Given the description of an element on the screen output the (x, y) to click on. 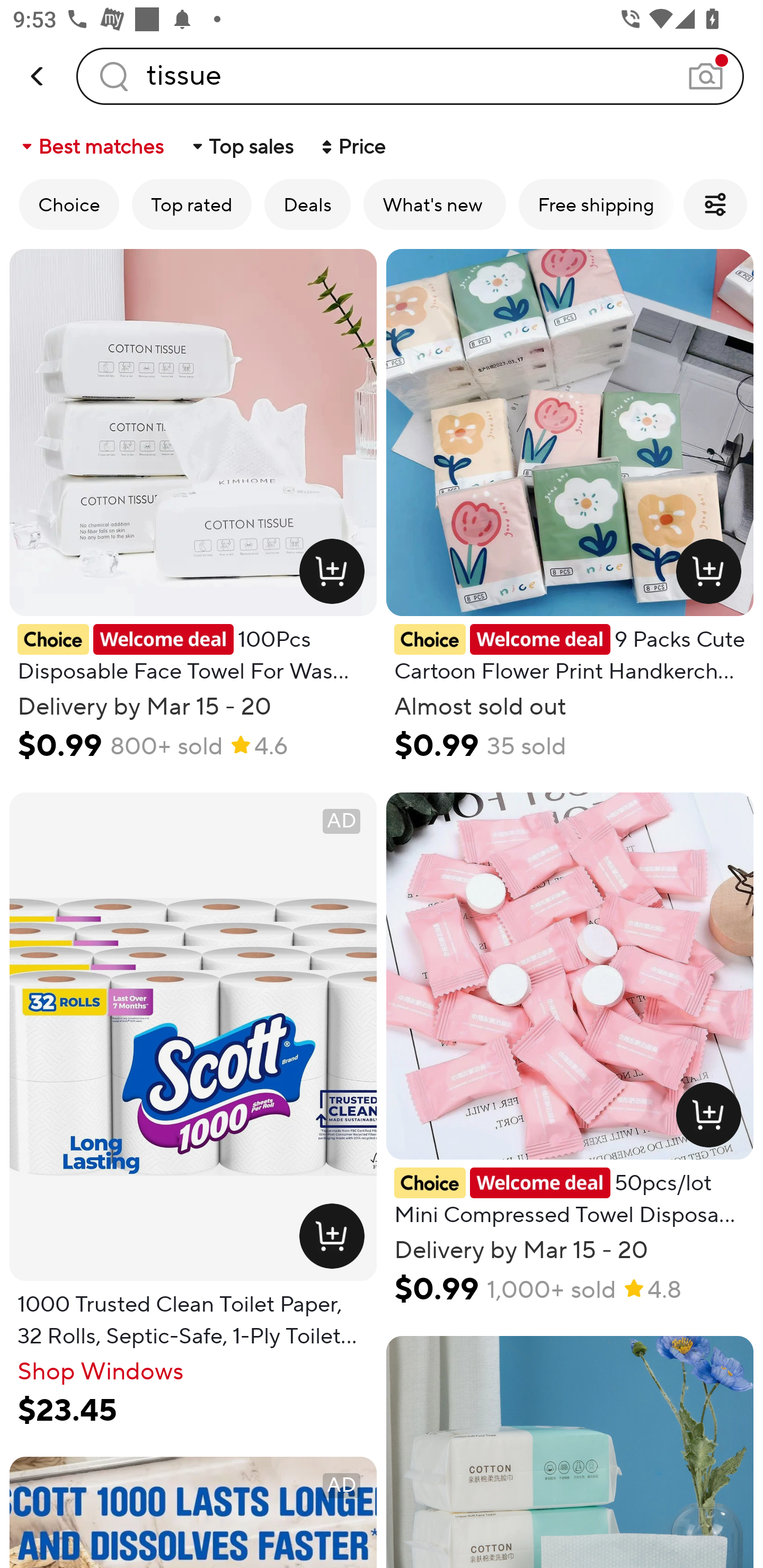
back (38, 75)
tissue Search query (409, 76)
tissue Search query (409, 76)
Best matches (91, 146)
Top sales (241, 146)
Price (352, 146)
Choice (69, 204)
Top rated (191, 204)
Deals (307, 204)
What's new  (434, 204)
Free shipping (595, 204)
